Given the description of an element on the screen output the (x, y) to click on. 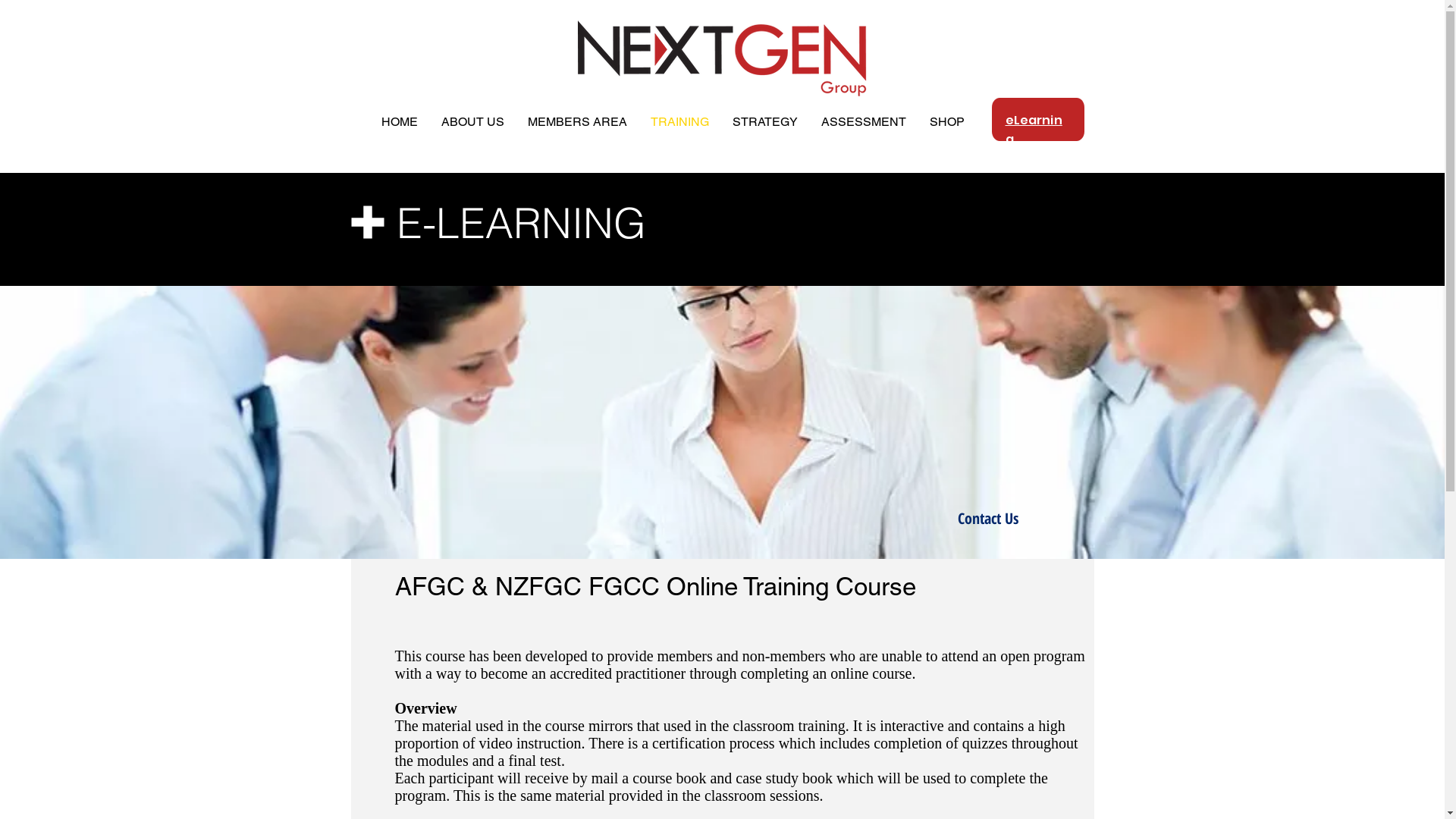
ABOUT US Element type: text (472, 122)
ASSESSMENT Element type: text (863, 122)
STRATEGY Element type: text (764, 122)
SHOP Element type: text (946, 122)
eLearning Element type: text (1033, 129)
Contact Us Element type: text (987, 517)
MEMBERS AREA Element type: text (576, 122)
TRAINING Element type: text (679, 122)
HOME Element type: text (398, 122)
